Given the description of an element on the screen output the (x, y) to click on. 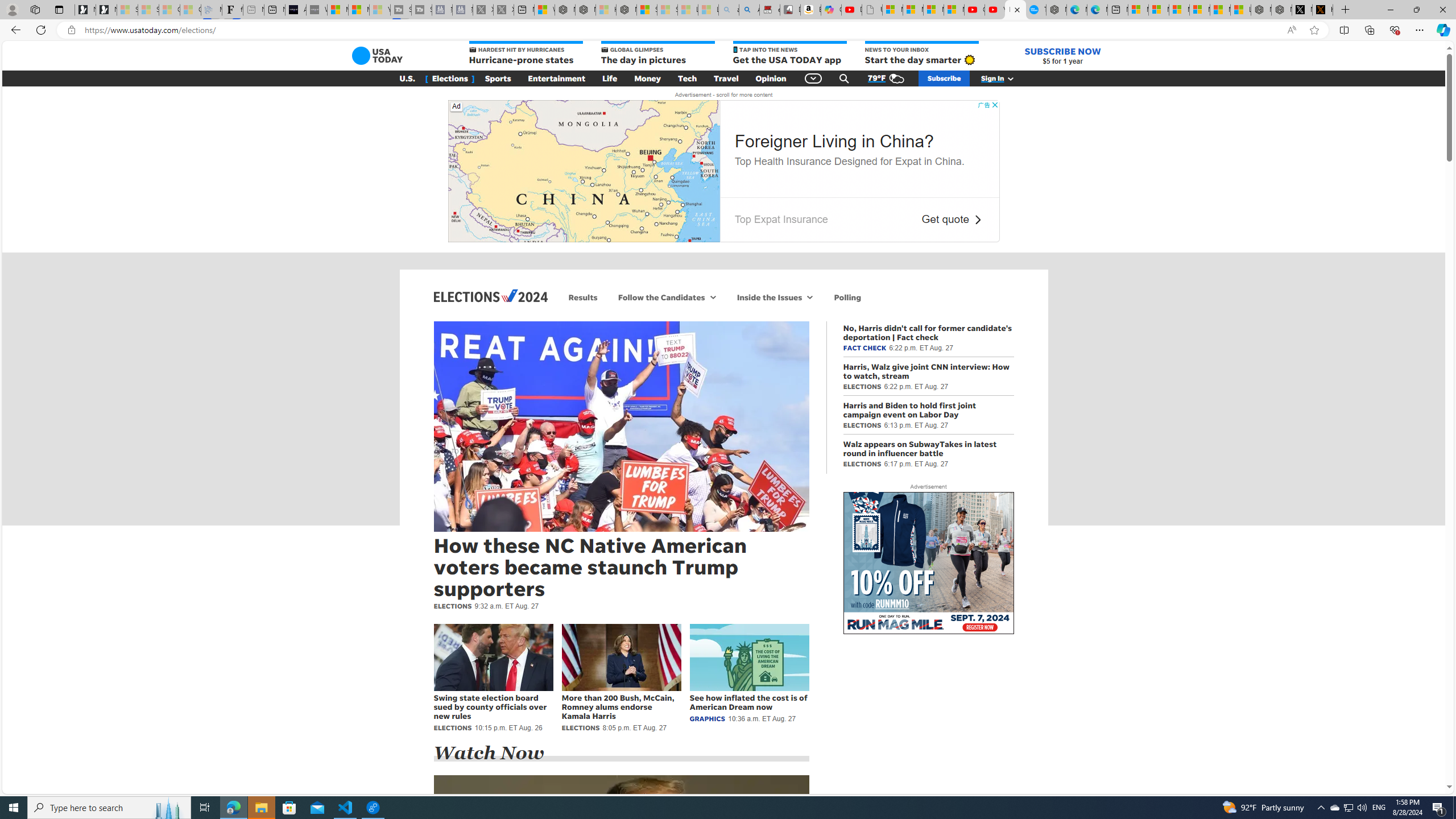
Class: ns-8fxrh-e-26 flip-on-rtl (977, 219)
The most popular Google 'how to' searches (1035, 9)
Elections 2024 (490, 295)
Address and search bar (680, 29)
amazon - Search - Sleeping (728, 9)
Nordace (@NordaceOfficial) / X (1302, 9)
New tab - Sleeping (253, 9)
Opinion (770, 78)
